Given the description of an element on the screen output the (x, y) to click on. 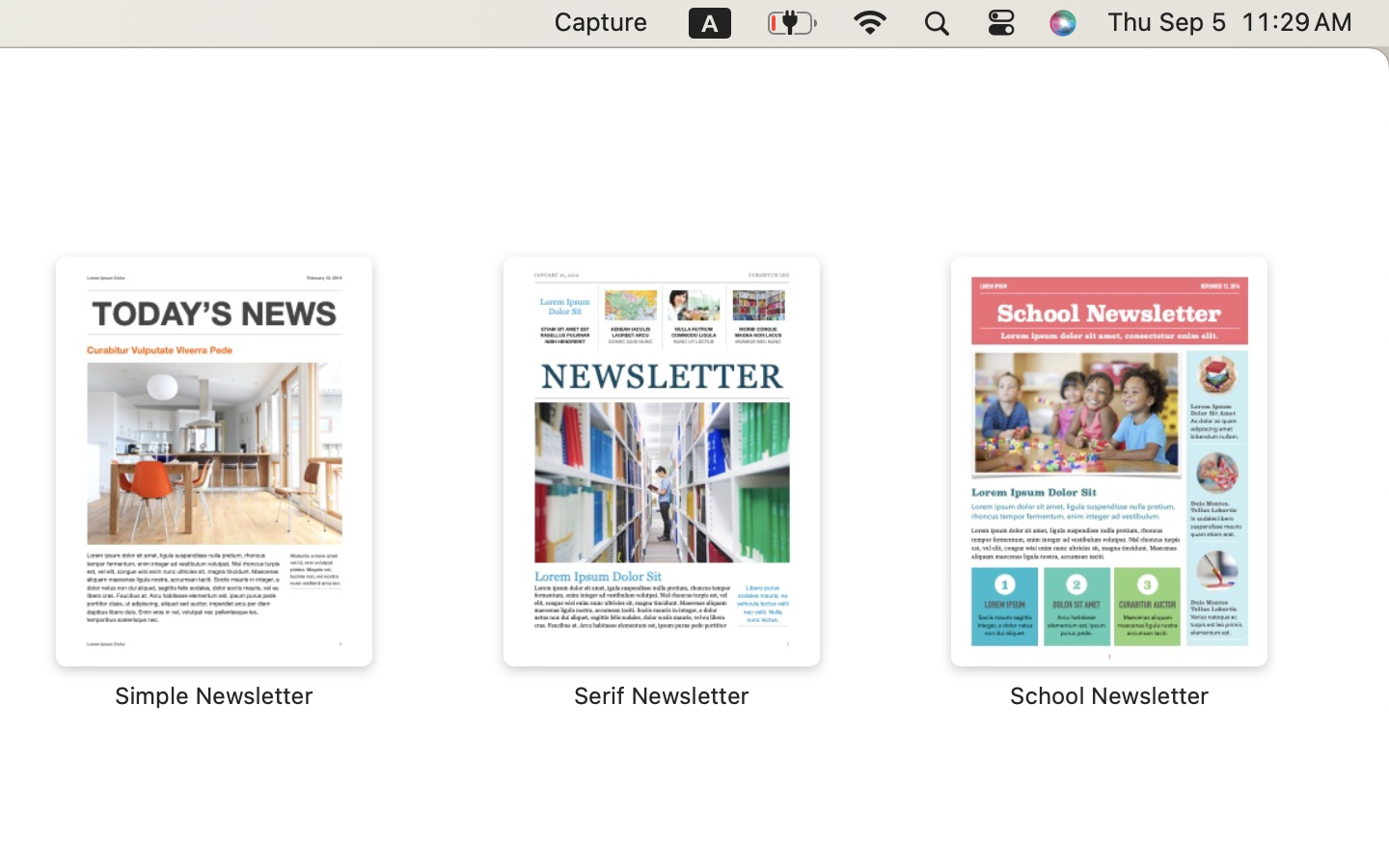
‎⁨School Newsletter⁩ Element type: AXButton (1109, 483)
‎⁨Serif Newsletter⁩ Element type: AXButton (661, 483)
